Given the description of an element on the screen output the (x, y) to click on. 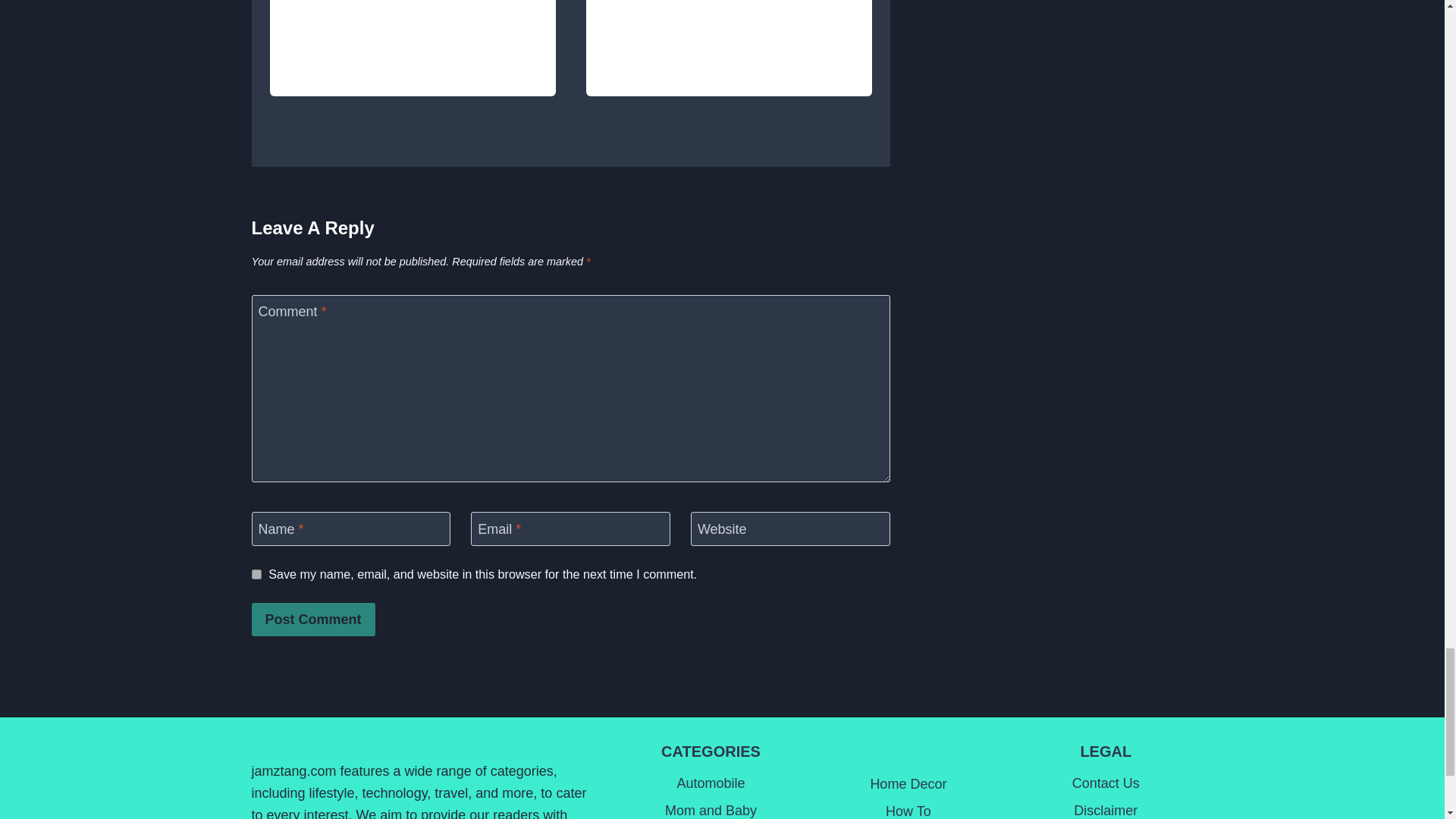
Post Comment (313, 618)
yes (256, 574)
